Given the description of an element on the screen output the (x, y) to click on. 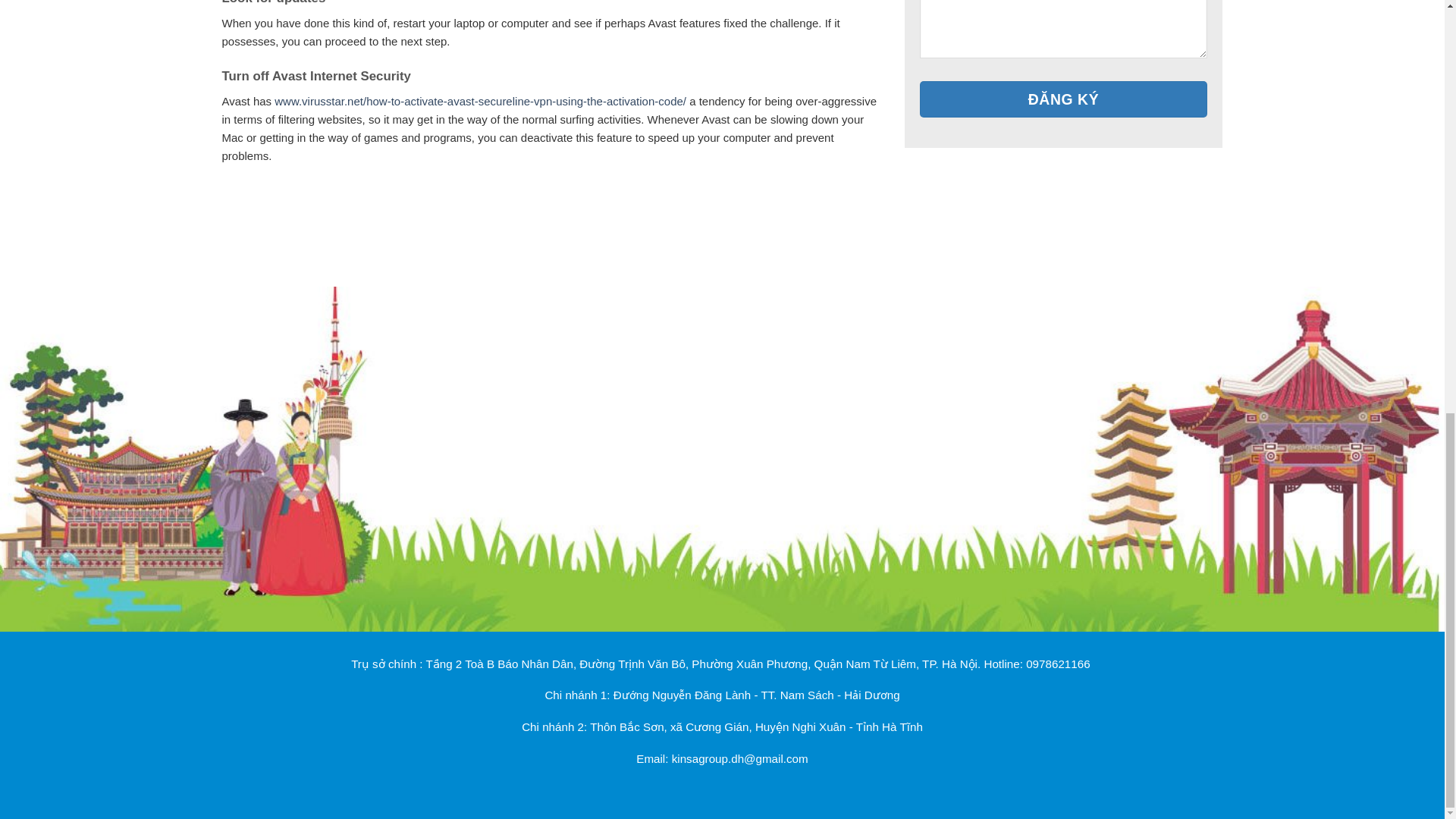
0978621166 (1057, 663)
